Given the description of an element on the screen output the (x, y) to click on. 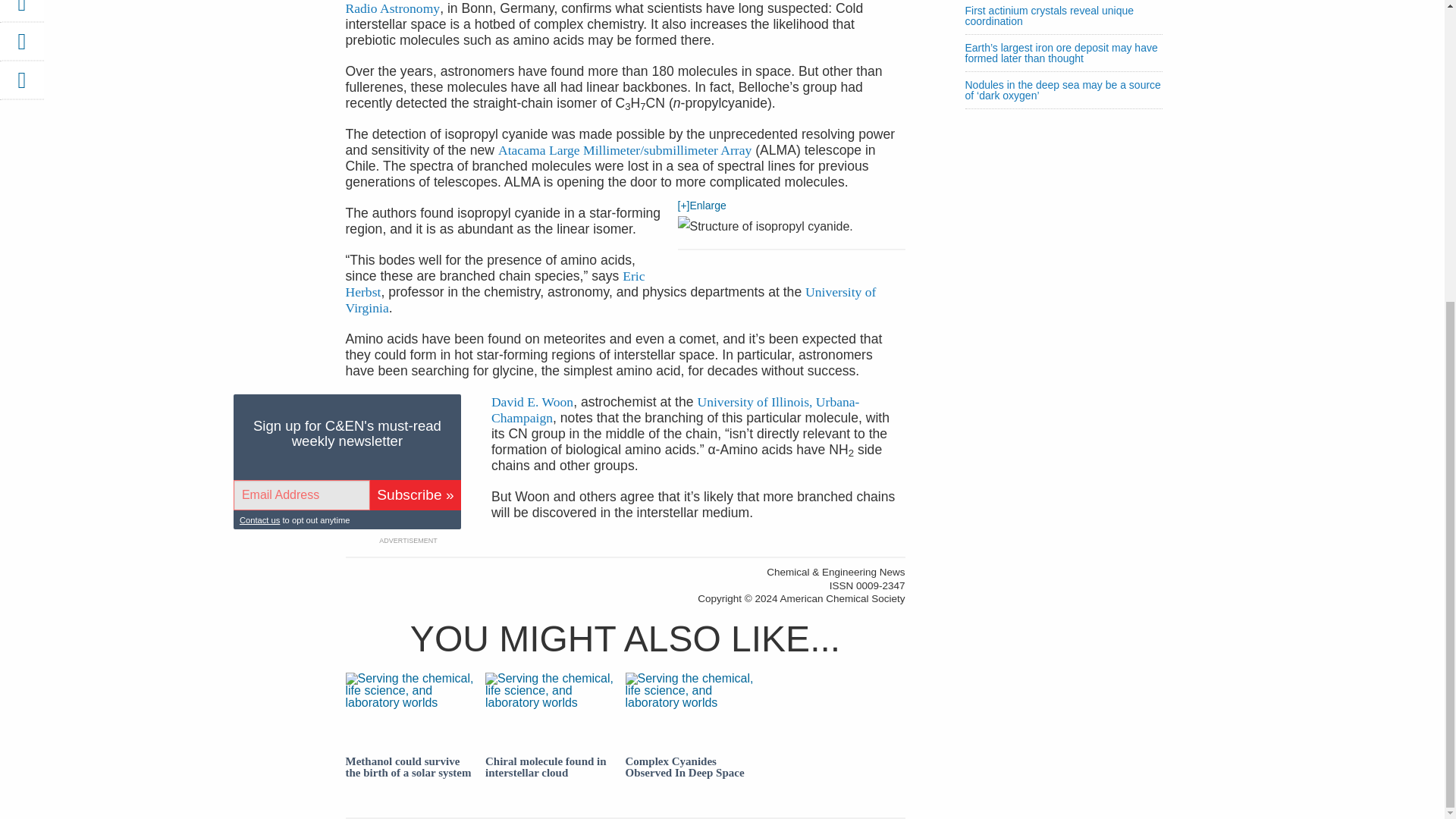
ALMA observatory (624, 150)
Max Planck Institute for Radio Astronomy (625, 7)
